Given the description of an element on the screen output the (x, y) to click on. 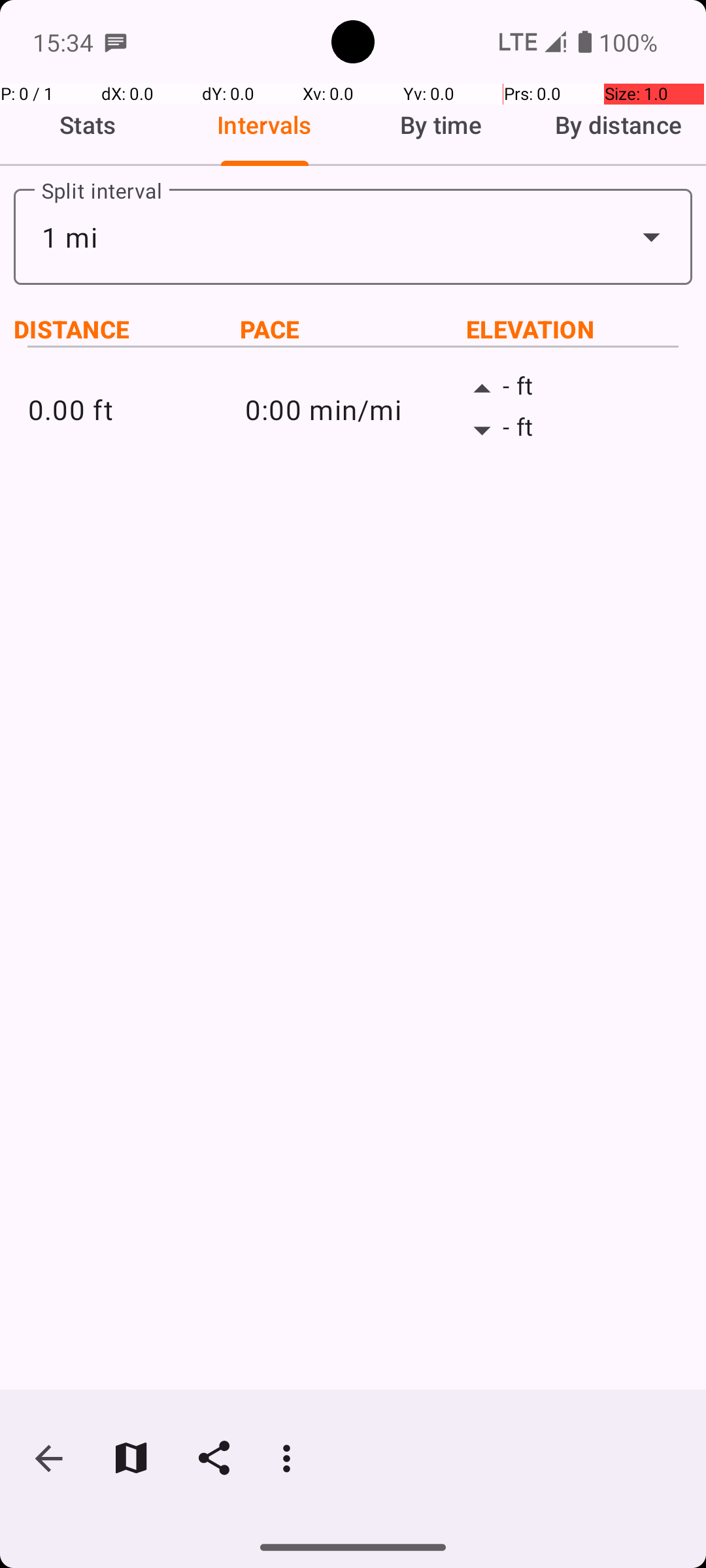
PACE Element type: android.widget.TextView (352, 328)
0:00 min/mi Element type: android.widget.TextView (352, 408)
